Given the description of an element on the screen output the (x, y) to click on. 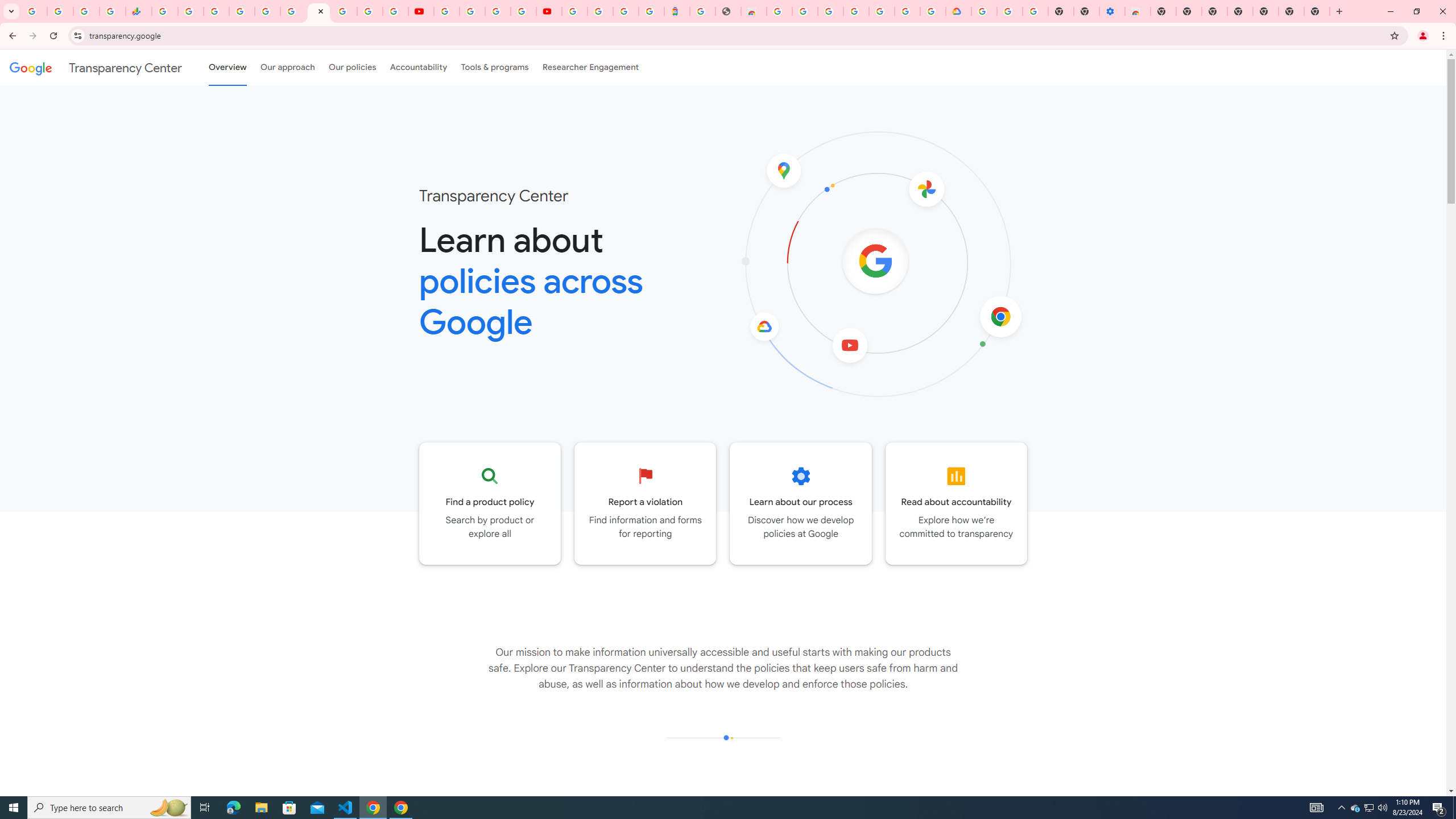
Ad Settings (804, 11)
Content Creator Programs & Opportunities - YouTube Creators (548, 11)
Sign in - Google Accounts (830, 11)
Sign in - Google Accounts (907, 11)
